Given the description of an element on the screen output the (x, y) to click on. 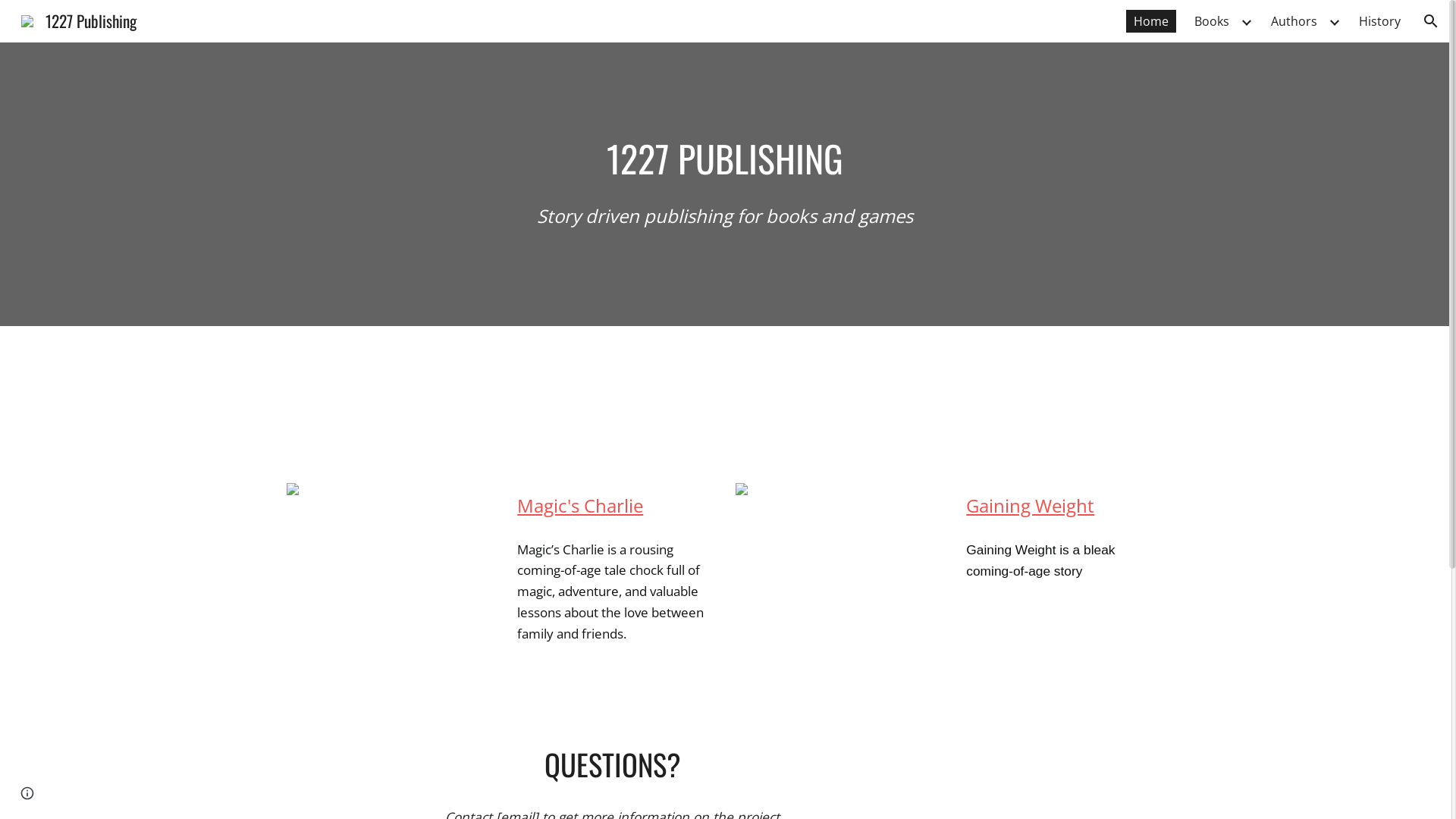
Magic's Charlie Element type: text (580, 504)
Books Element type: text (1211, 20)
Authors Element type: text (1293, 20)
1227 Publishing Element type: text (78, 18)
Expand/Collapse Element type: hover (1333, 20)
Gaining Weight Element type: text (1030, 504)
Home Element type: text (1151, 20)
Expand/Collapse Element type: hover (1245, 20)
History Element type: text (1379, 20)
